Given the description of an element on the screen output the (x, y) to click on. 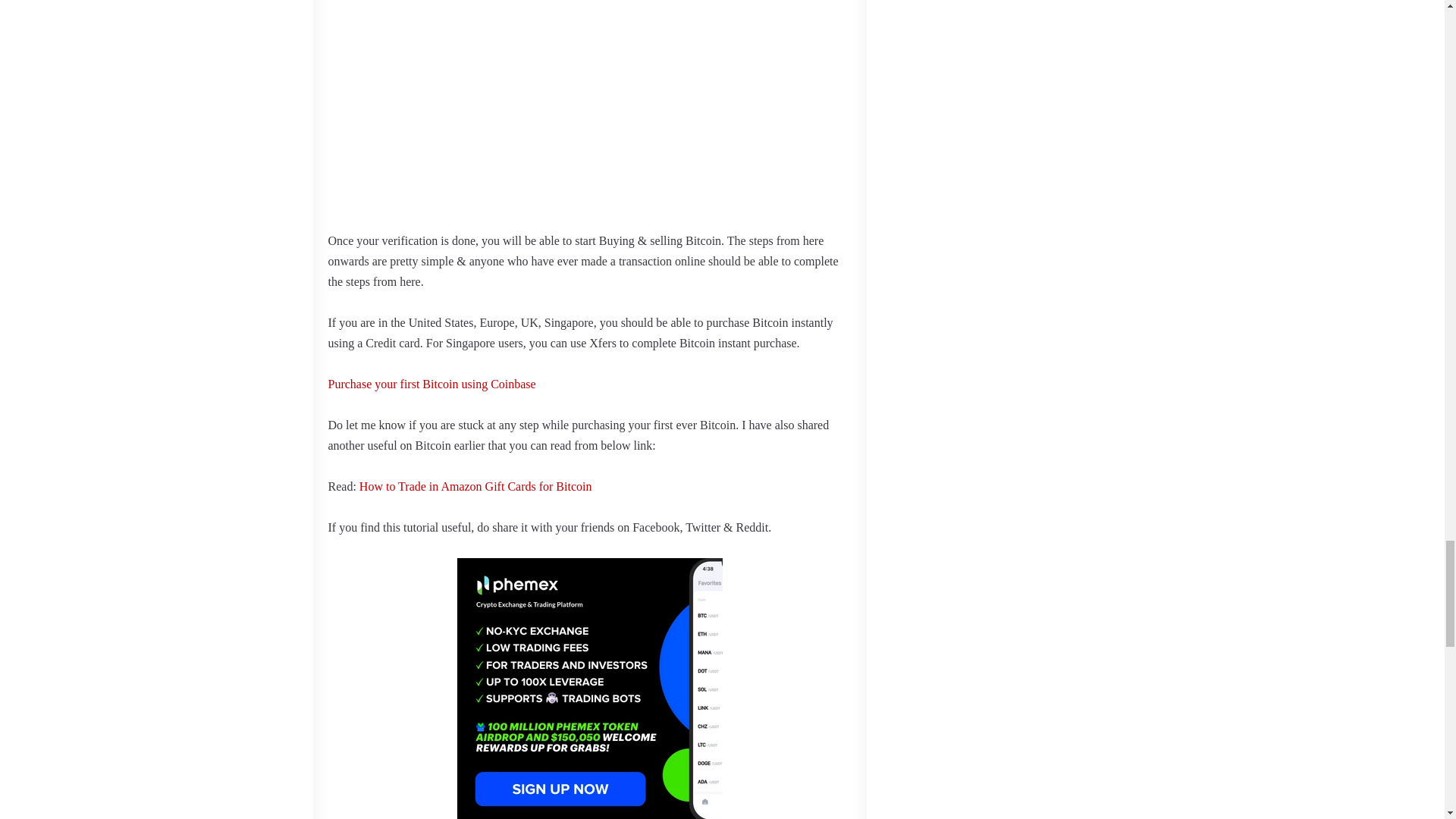
How to Trade in Amazon Gift Cards for Bitcoin (475, 486)
Purchase your first Bitcoin using Coinbase (431, 383)
